Given the description of an element on the screen output the (x, y) to click on. 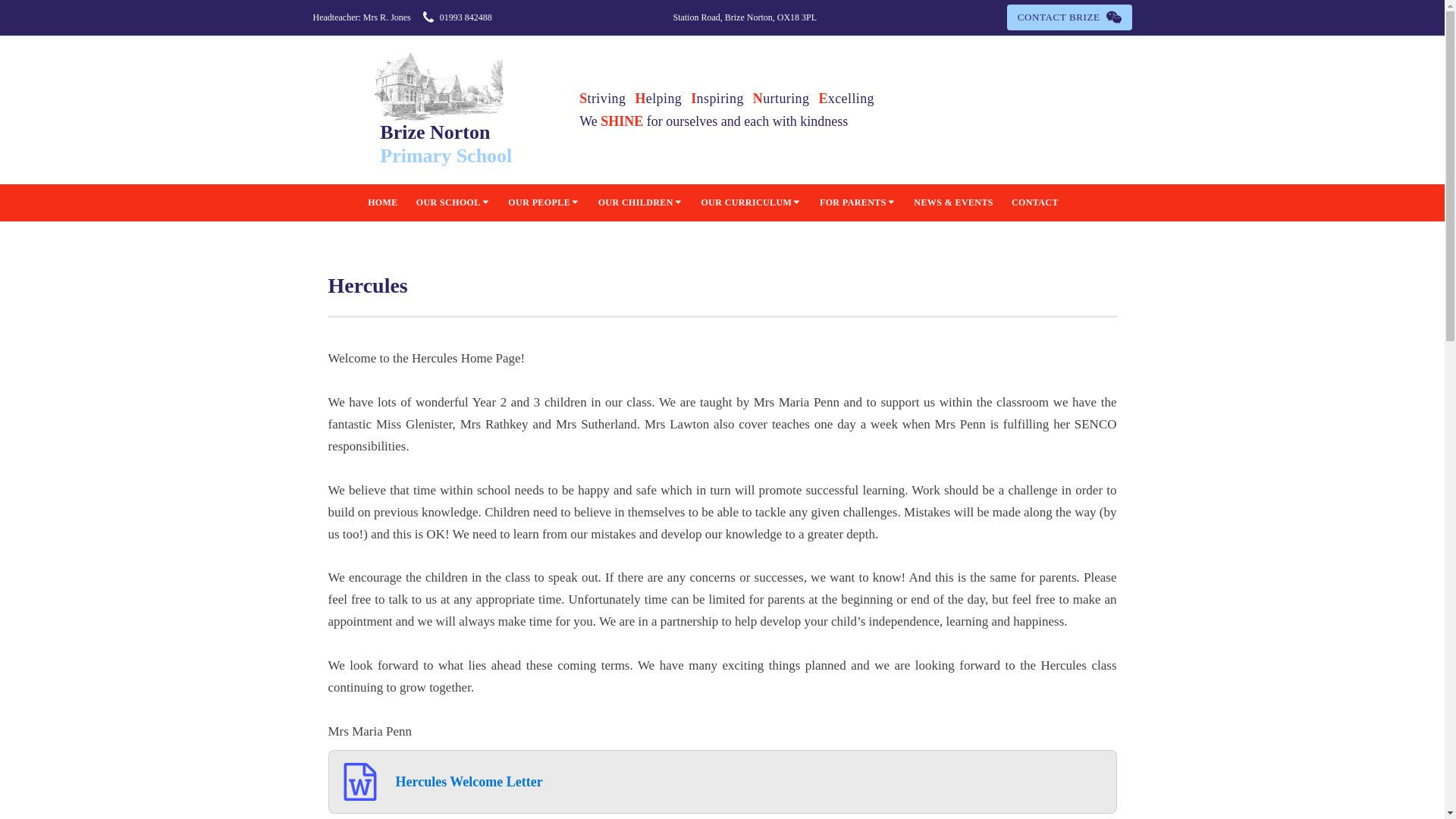
CONTACT BRIZE (1069, 17)
OUR SCHOOL (453, 201)
OUR PEOPLE (543, 201)
OUR CHILDREN (640, 201)
HOME (446, 109)
OUR CURRICULUM (382, 201)
